Given the description of an element on the screen output the (x, y) to click on. 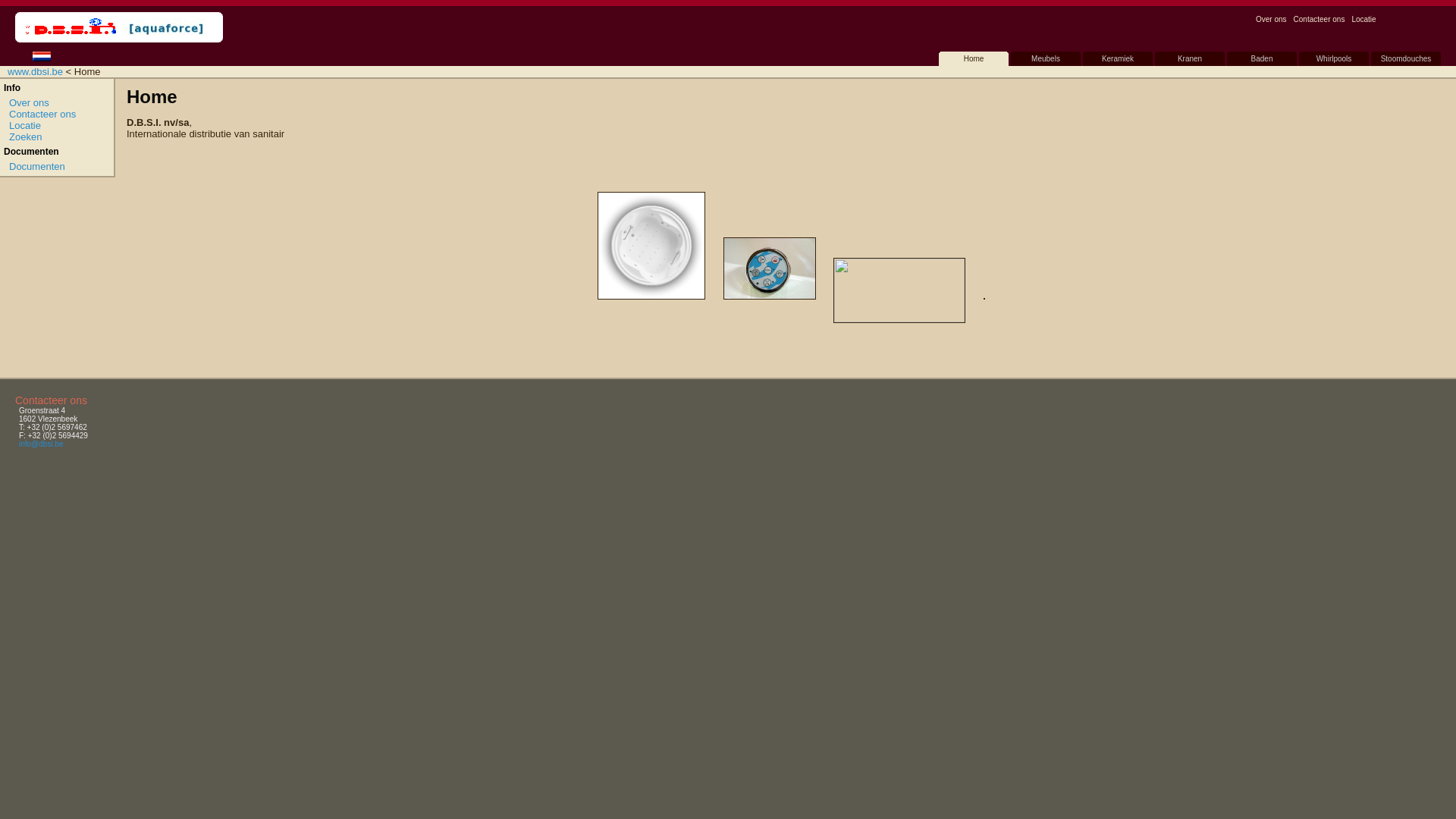
Contacteer ons Element type: text (1319, 19)
Documenten Element type: text (37, 166)
Home Element type: text (973, 58)
Locatie Element type: text (1363, 19)
Stoomdouches Element type: text (1405, 58)
Keramiek Element type: text (1117, 58)
Locatie Element type: text (24, 125)
Baden Element type: text (1261, 58)
Contacteer ons Element type: text (42, 113)
Over ons Element type: text (29, 102)
Meubels Element type: text (1045, 58)
info@dbsi.be Element type: text (40, 443)
Kranen Element type: text (1189, 58)
Zoeken Element type: text (25, 136)
www.dbsi.be Element type: text (34, 71)
Over ons Element type: text (1271, 19)
Whirlpools Element type: text (1333, 58)
